Given the description of an element on the screen output the (x, y) to click on. 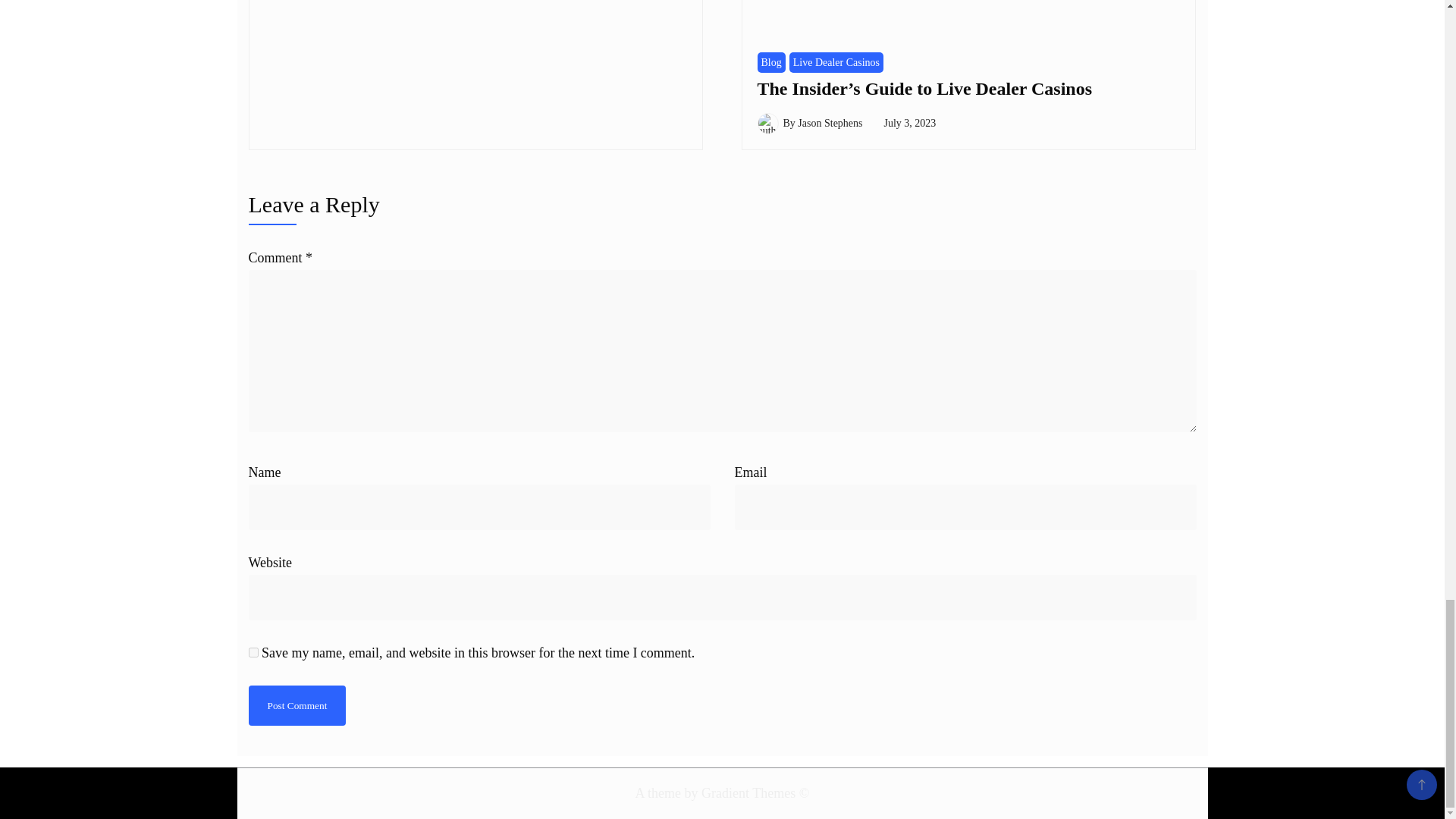
Post Comment (297, 705)
yes (253, 652)
